Given the description of an element on the screen output the (x, y) to click on. 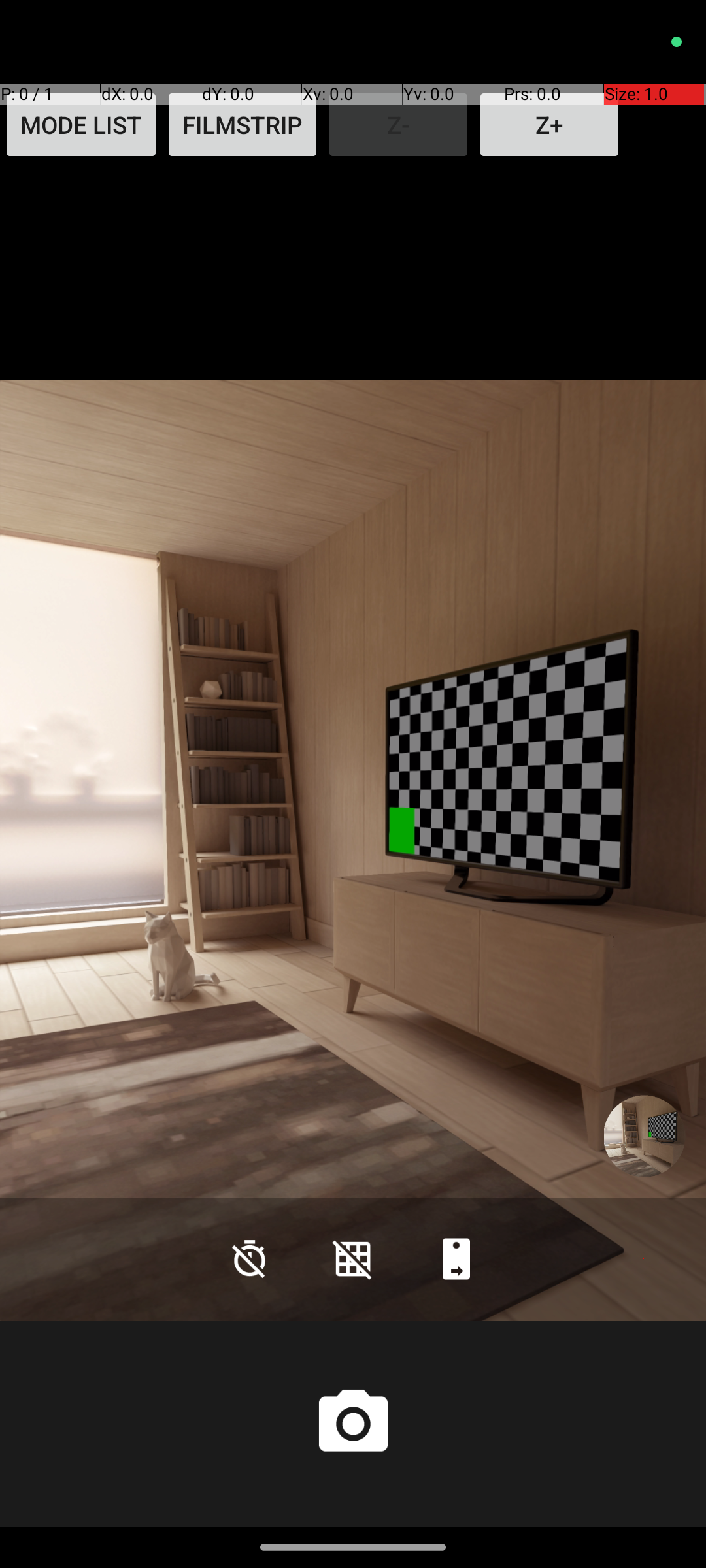
Countdown timer is off Element type: android.widget.ImageButton (249, 1258)
Grid lines off Element type: android.widget.ImageButton (352, 1258)
Back camera Element type: android.widget.ImageButton (456, 1258)
